Given the description of an element on the screen output the (x, y) to click on. 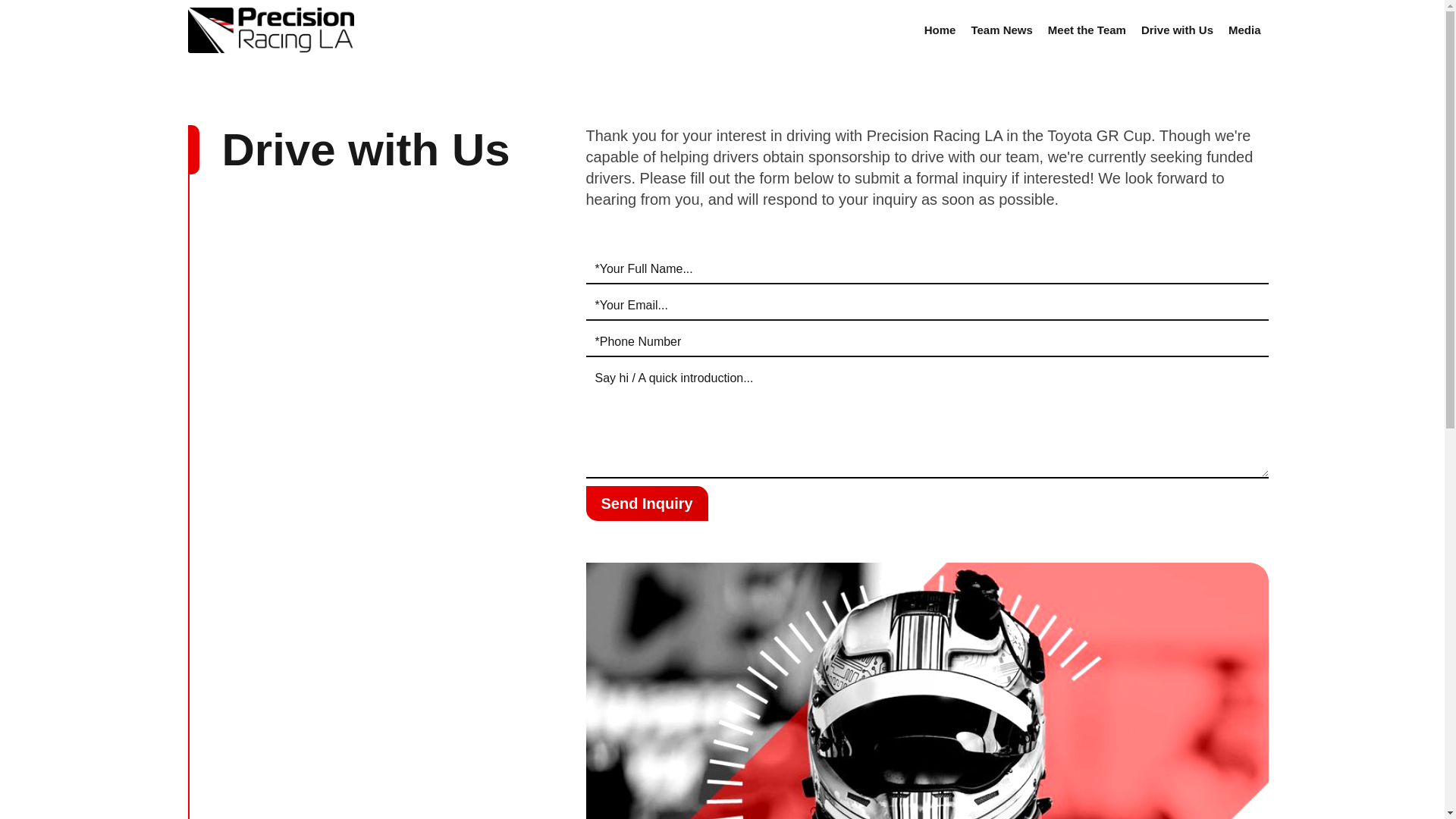
Team News (1000, 29)
Media (1244, 29)
Meet the Team (1087, 29)
Drive with Us (1177, 29)
Home (940, 29)
Send Inquiry (646, 503)
Send Inquiry (646, 503)
